Given the description of an element on the screen output the (x, y) to click on. 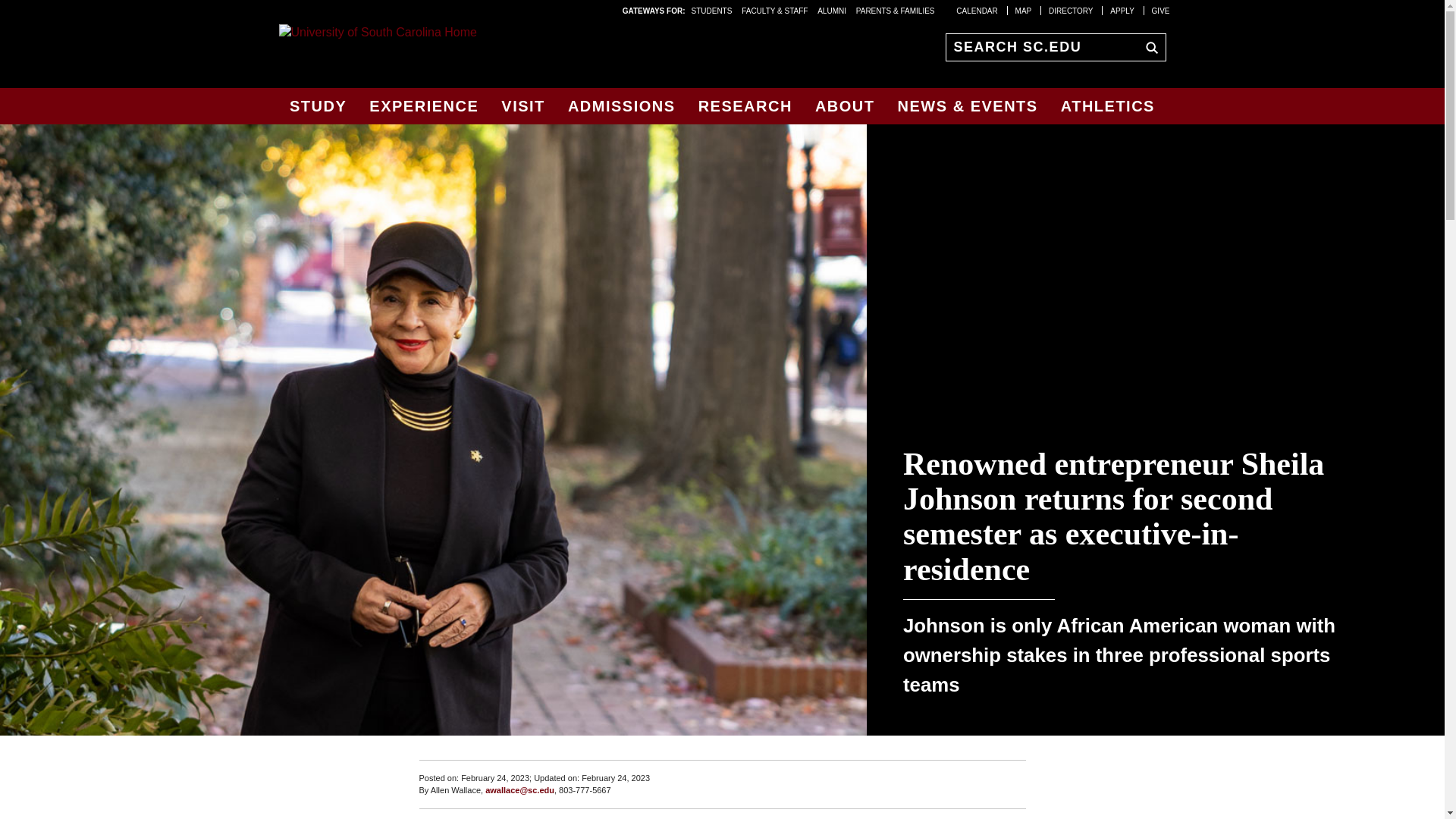
ALUMNI (830, 9)
DIRECTORY (1070, 9)
STUDY (318, 105)
MAP (1023, 9)
GIVE (1160, 9)
CALENDAR (976, 9)
VISIT (523, 105)
EXPERIENCE (423, 105)
sc.edu Search (1148, 46)
GO (1148, 46)
GO (1148, 46)
APPLY (1121, 9)
STUDENTS (713, 9)
